Given the description of an element on the screen output the (x, y) to click on. 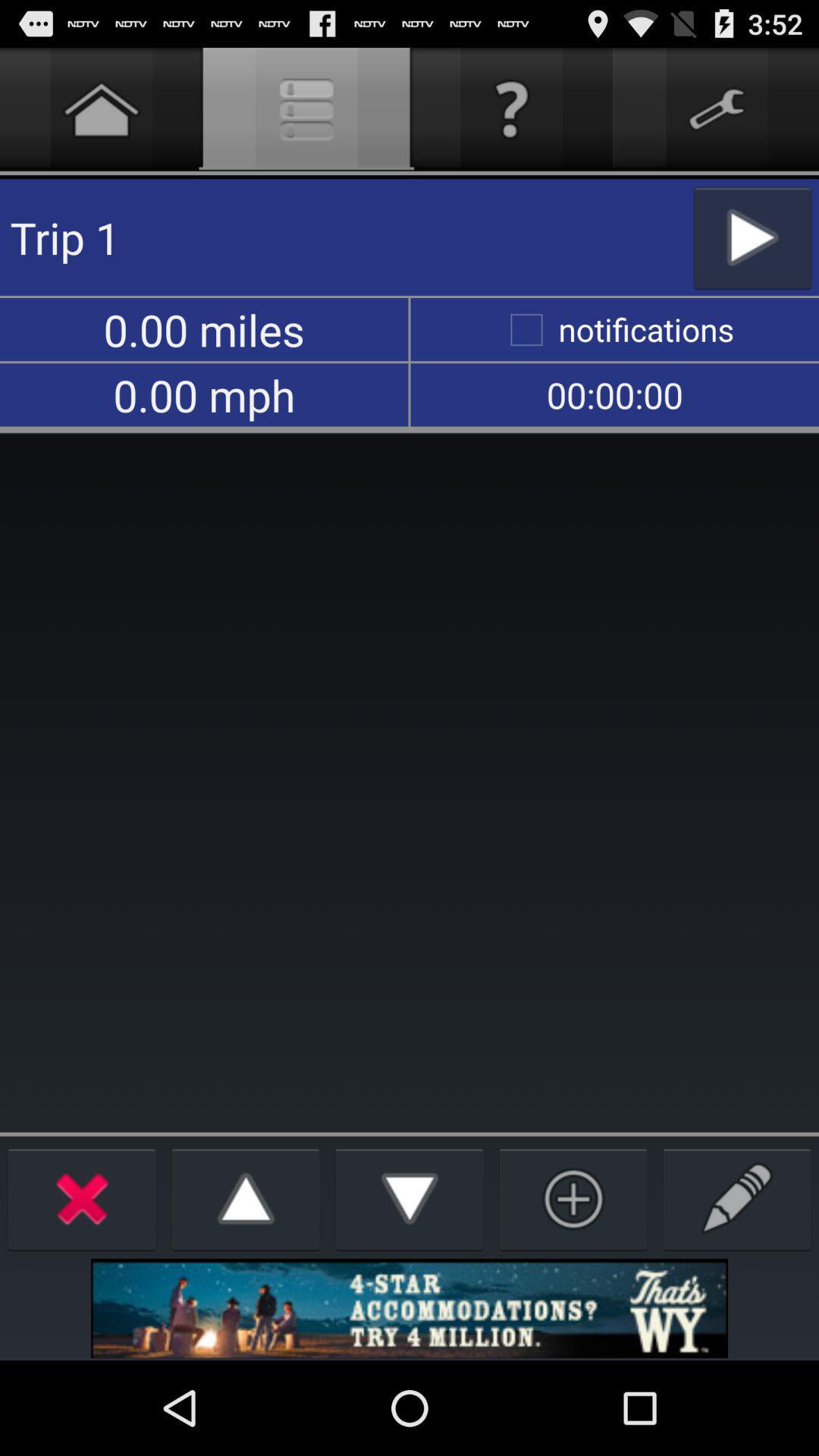
add page (573, 1198)
